Given the description of an element on the screen output the (x, y) to click on. 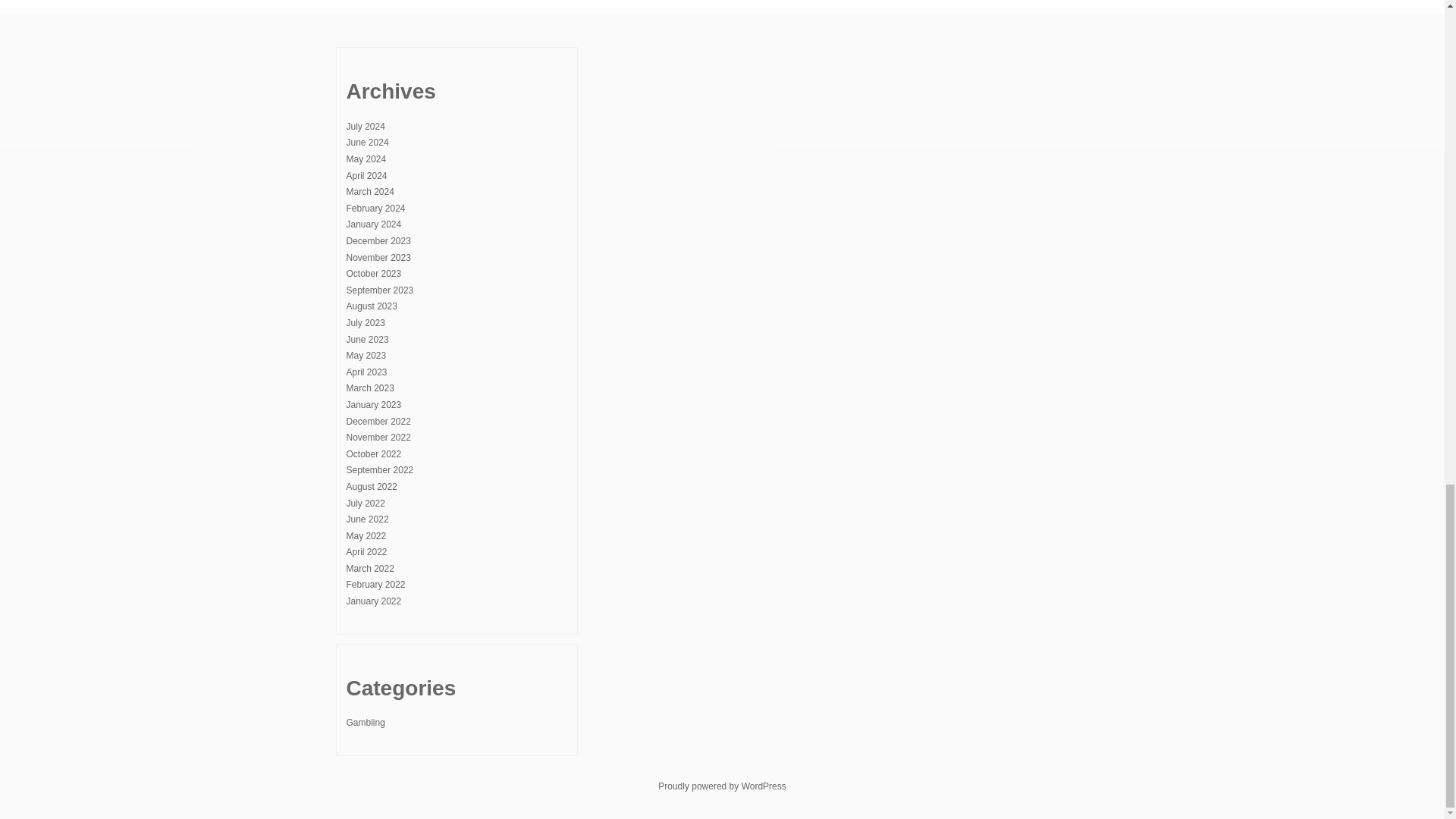
September 2022 (379, 470)
March 2024 (369, 191)
June 2024 (367, 142)
August 2022 (371, 486)
October 2022 (373, 453)
September 2023 (379, 290)
April 2024 (366, 175)
April 2023 (366, 371)
December 2023 (378, 240)
January 2024 (373, 224)
July 2023 (365, 322)
May 2023 (365, 355)
January 2023 (373, 404)
June 2023 (367, 339)
December 2022 (378, 421)
